Given the description of an element on the screen output the (x, y) to click on. 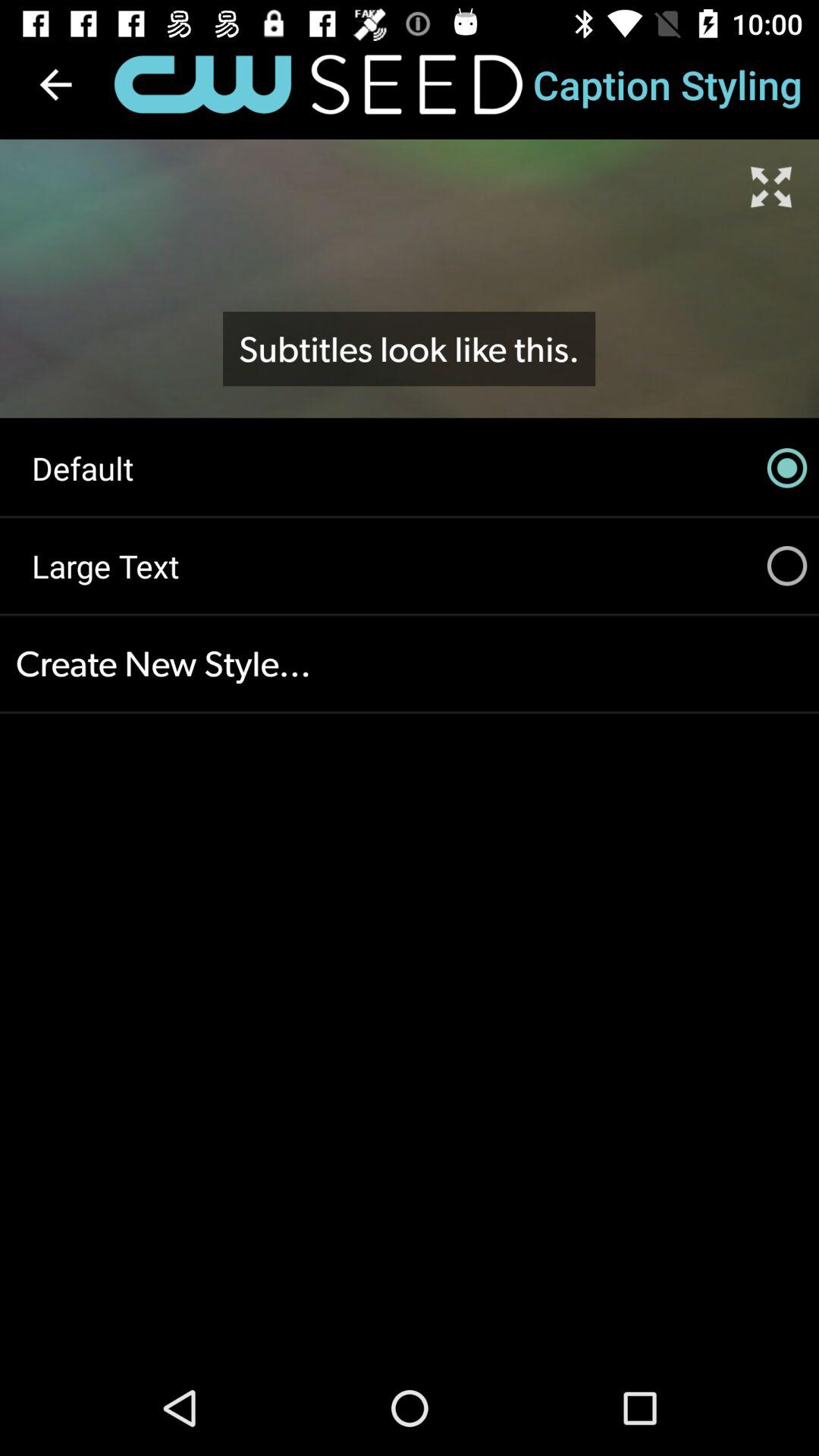
click subtitles look like icon (408, 348)
